Given the description of an element on the screen output the (x, y) to click on. 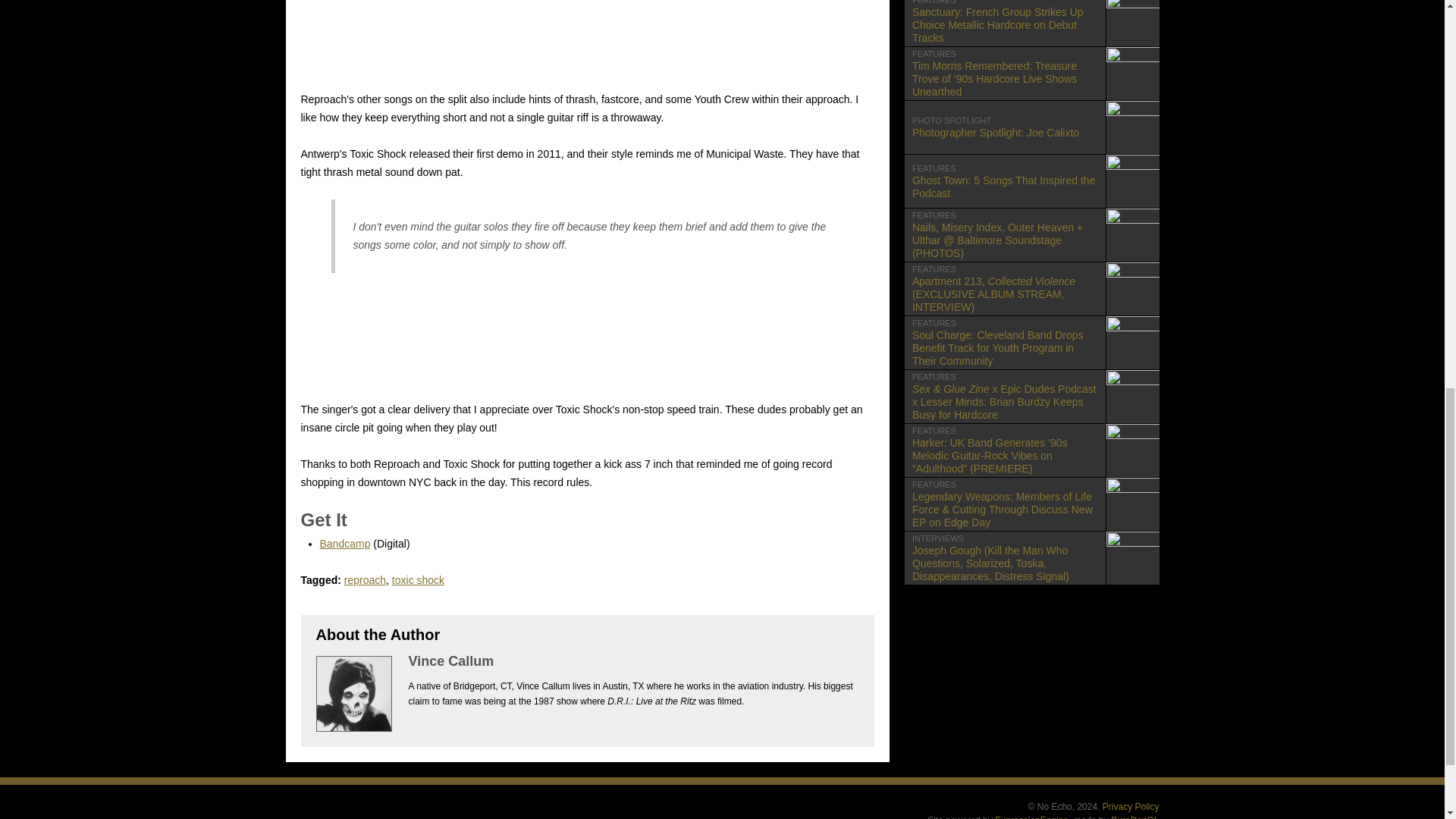
reproach (364, 580)
Bandcamp (345, 543)
BuroDenG! (1031, 126)
Privacy Policy (1133, 816)
toxic shock (1130, 806)
ExpressionEngine (417, 580)
